Given the description of an element on the screen output the (x, y) to click on. 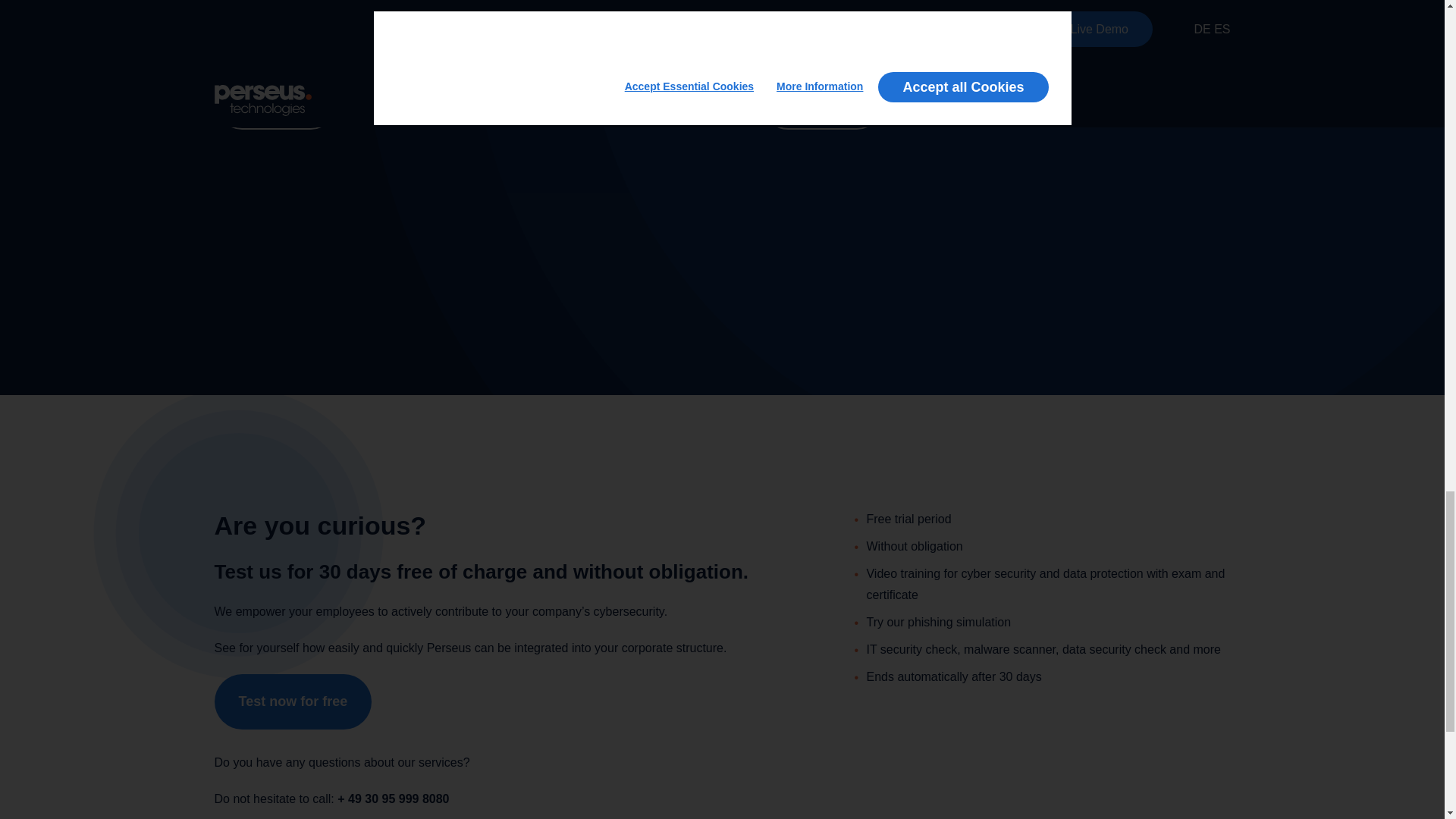
mehr lesen (821, 101)
mehr lesen (275, 101)
Test now for free (292, 701)
